Given the description of an element on the screen output the (x, y) to click on. 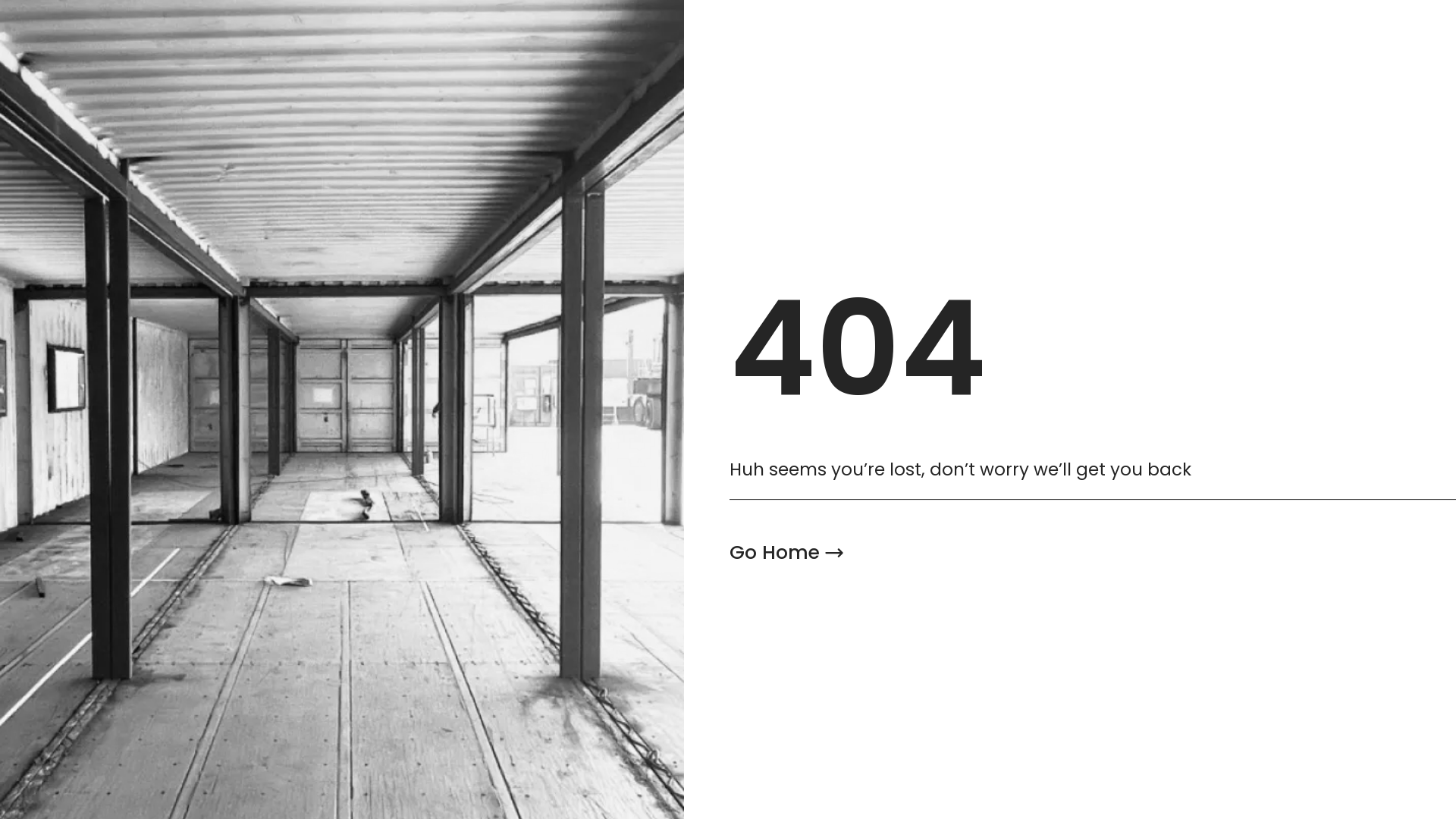
Go Home Element type: text (786, 552)
